Given the description of an element on the screen output the (x, y) to click on. 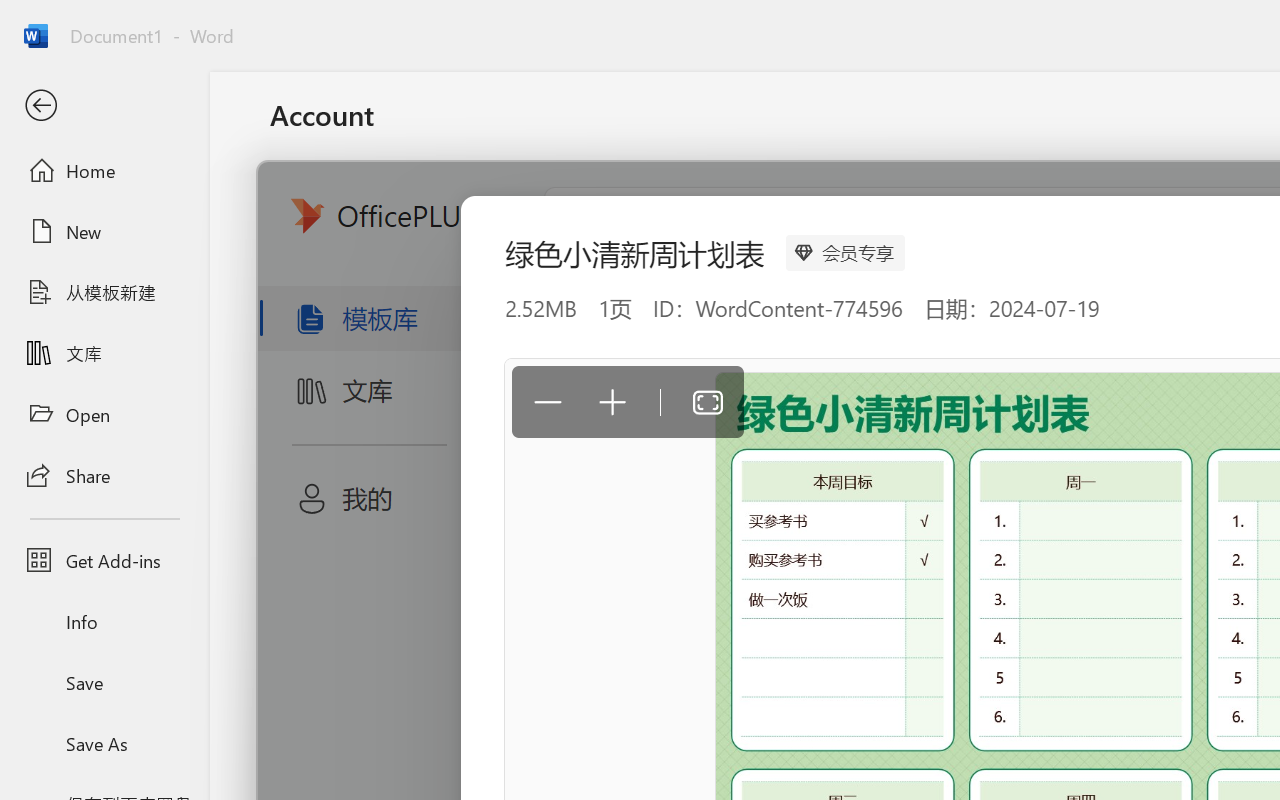
Save As (104, 743)
Back (104, 106)
Get Add-ins (104, 560)
Info (104, 621)
New (104, 231)
